Given the description of an element on the screen output the (x, y) to click on. 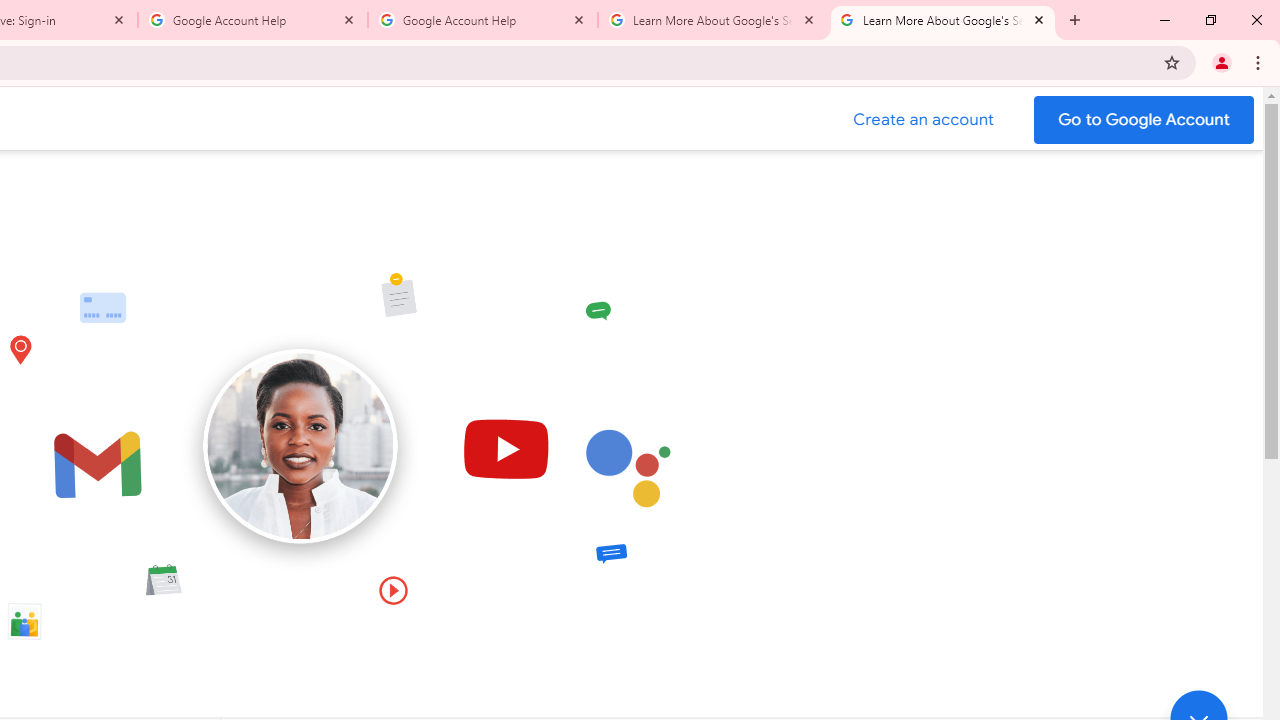
Create a Google Account (923, 119)
Go to your Google Account (1144, 119)
Google Account Help (482, 20)
